Given the description of an element on the screen output the (x, y) to click on. 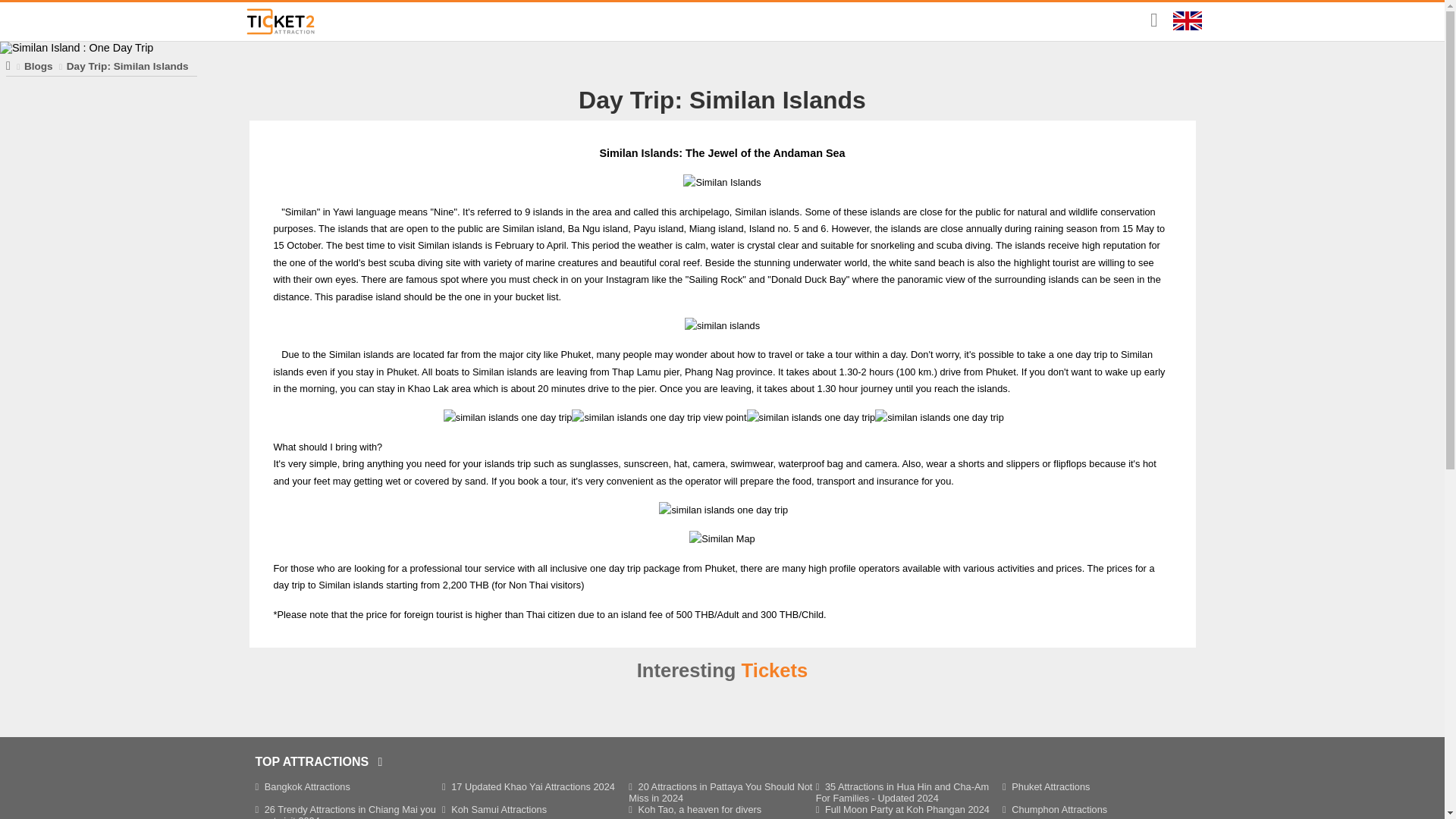
Koh Samui Attractions (494, 808)
Full Moon Party at Koh Phangan 2024 (902, 808)
Koh Tao, a heaven for divers (694, 808)
English (1186, 20)
Ticket2Attraction (280, 21)
17 Updated Khao Yai Attractions 2024 (528, 786)
Chumphon Attractions (1054, 808)
Blogs (38, 66)
26 Trendy Attractions in Chiang Mai you must visit 2024 (344, 811)
